Given the description of an element on the screen output the (x, y) to click on. 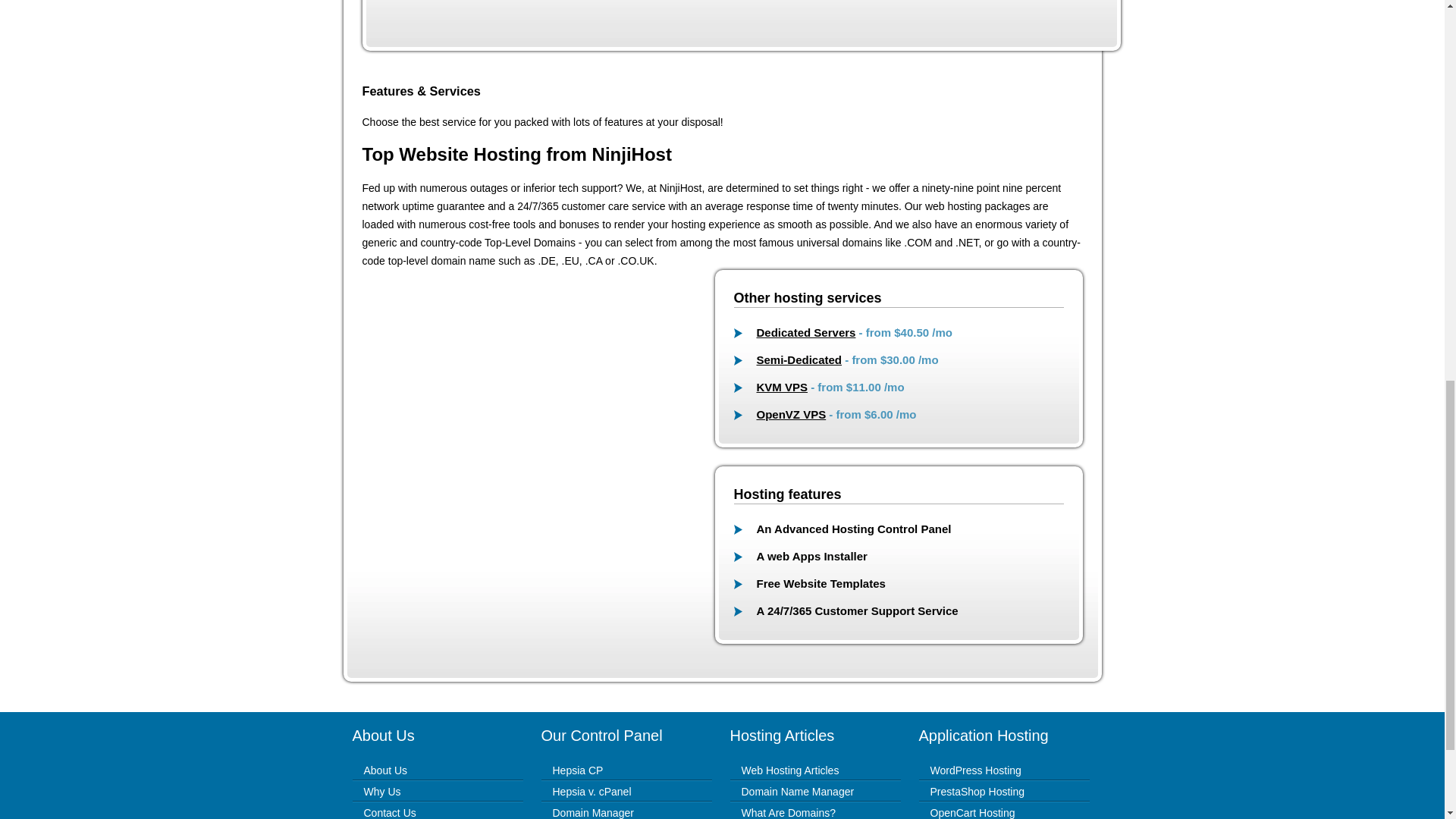
Dedicated Servers (806, 332)
